Given the description of an element on the screen output the (x, y) to click on. 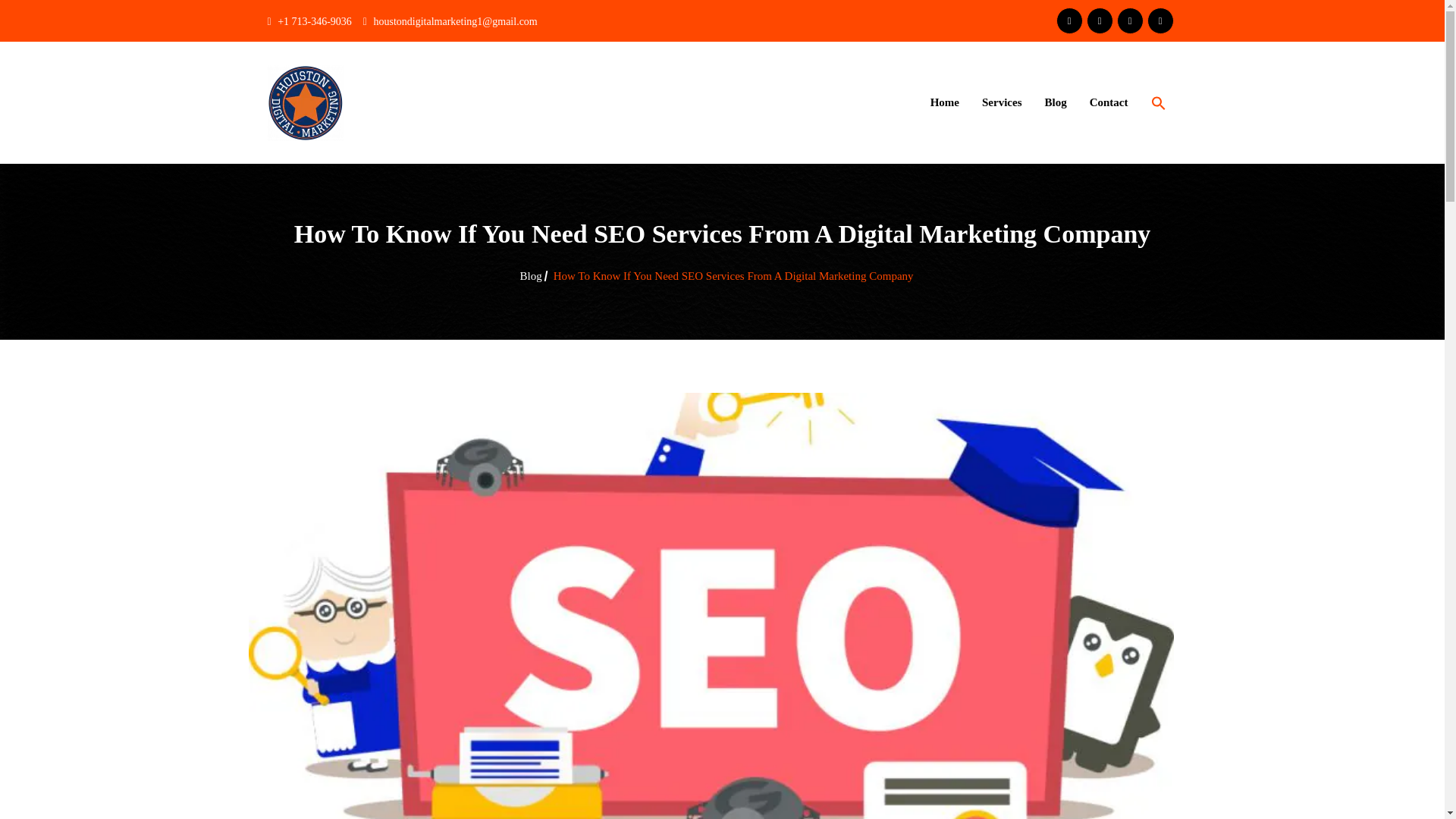
Contact (1108, 102)
Services (1001, 102)
Home (944, 102)
Home (944, 102)
Blog (1054, 102)
Contact (1108, 102)
Blog (530, 276)
Services (1001, 102)
Blog (1054, 102)
